Given the description of an element on the screen output the (x, y) to click on. 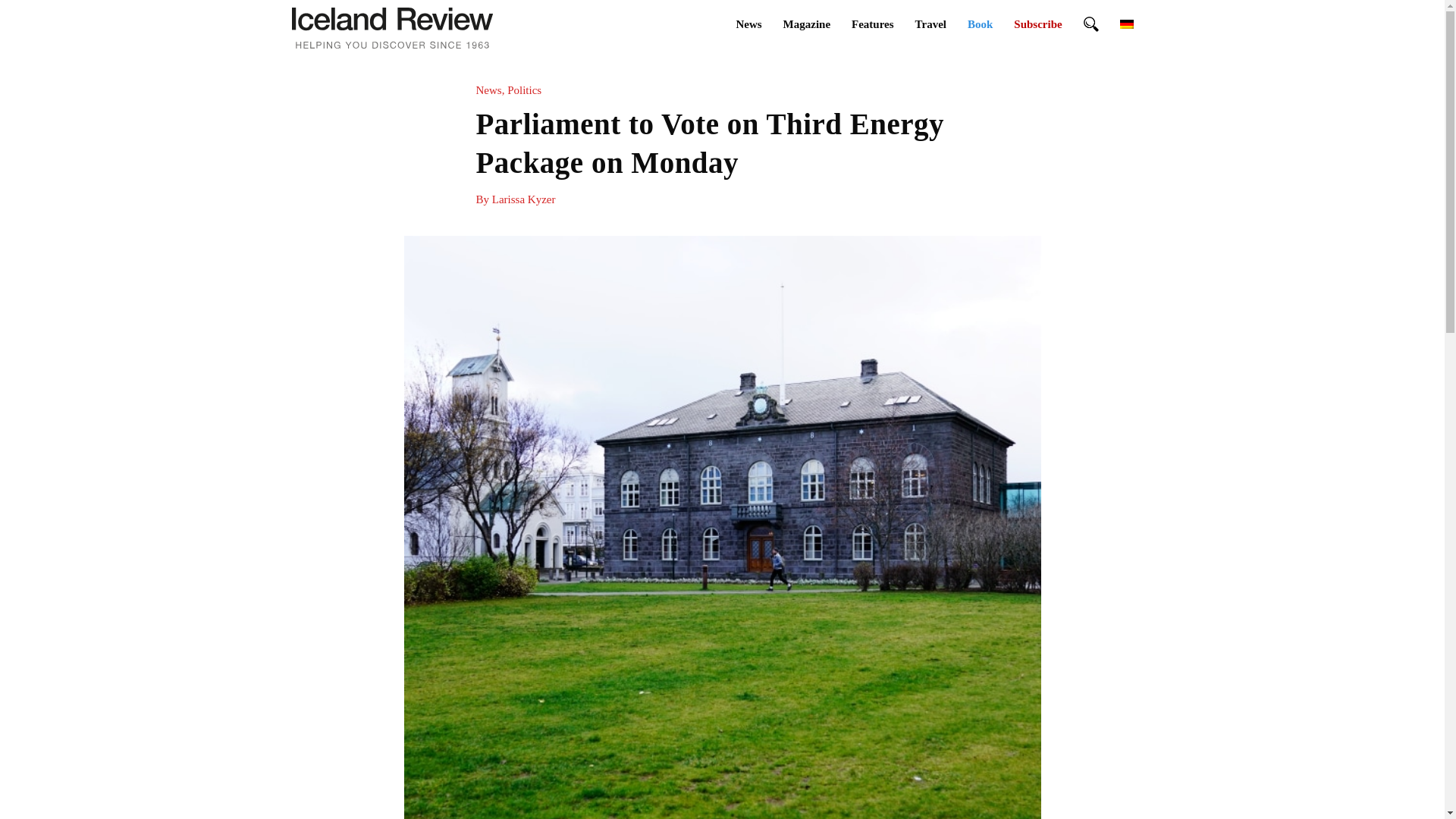
Subscribe (1037, 23)
News (748, 23)
Travel (930, 23)
Book (979, 23)
Features (872, 23)
Magazine (807, 23)
